Given the description of an element on the screen output the (x, y) to click on. 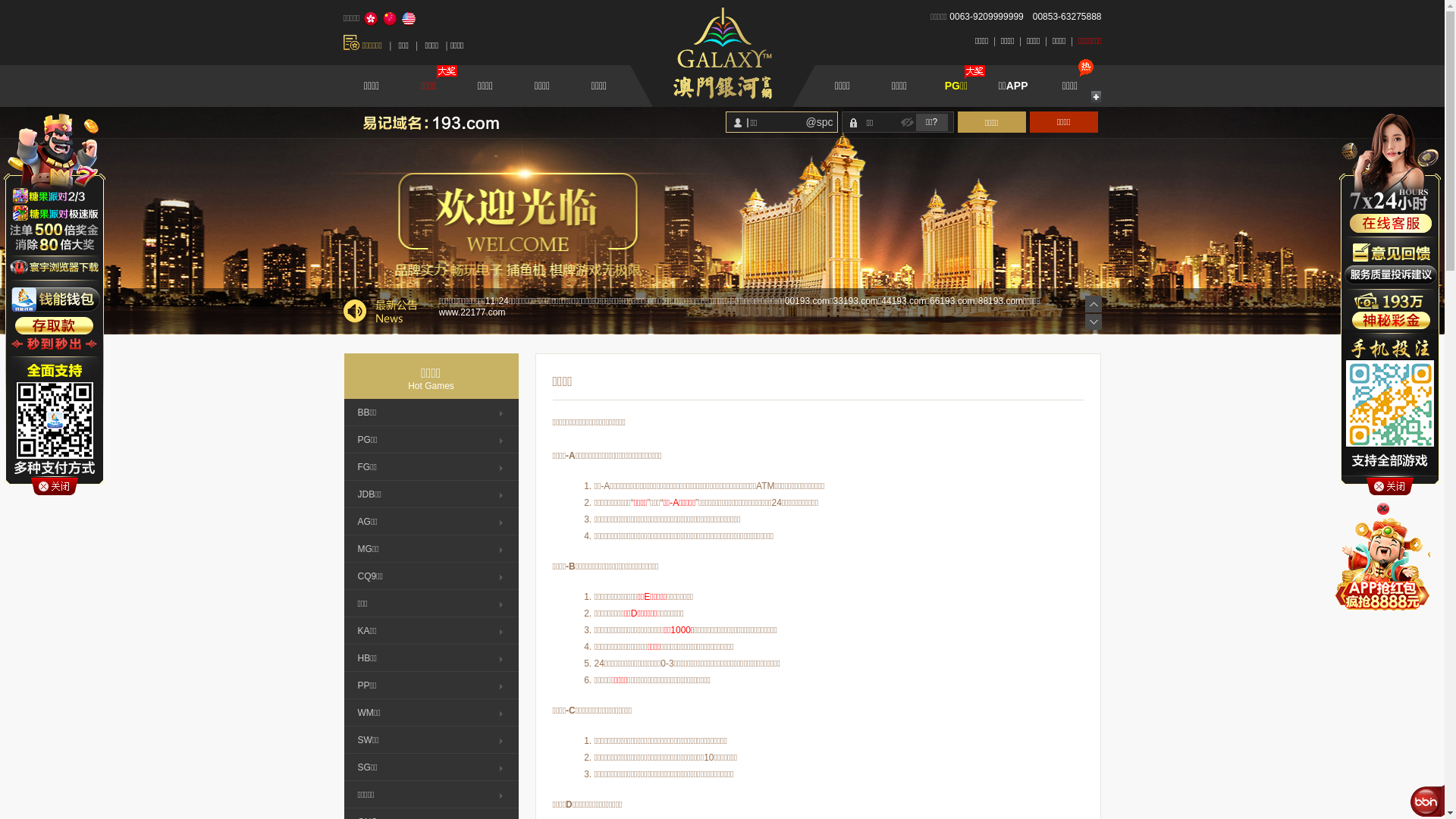
English Element type: hover (408, 18)
